Given the description of an element on the screen output the (x, y) to click on. 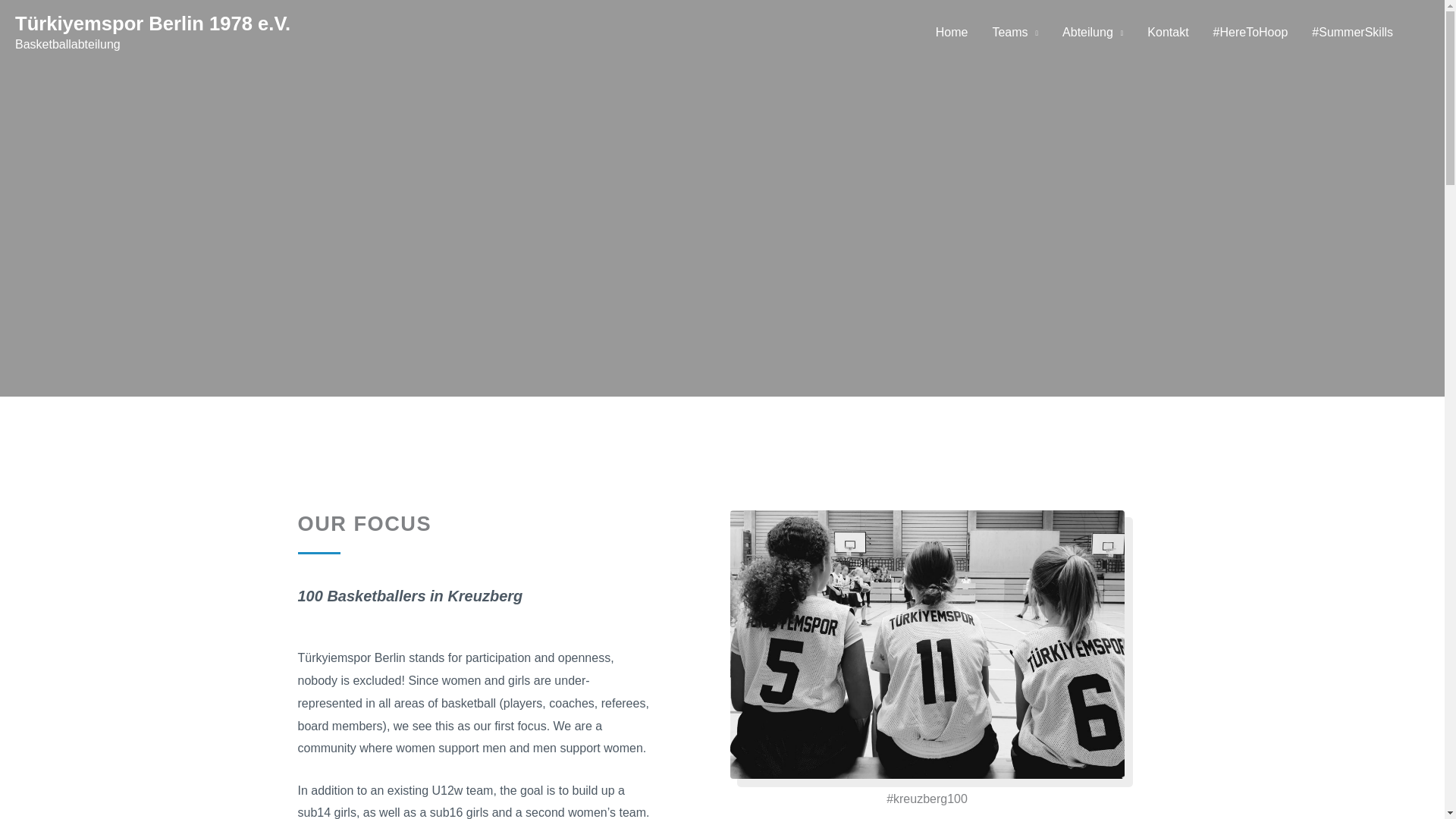
Kontakt (1167, 32)
Home (951, 32)
Teams (1014, 32)
Abteilung (1092, 32)
